Given the description of an element on the screen output the (x, y) to click on. 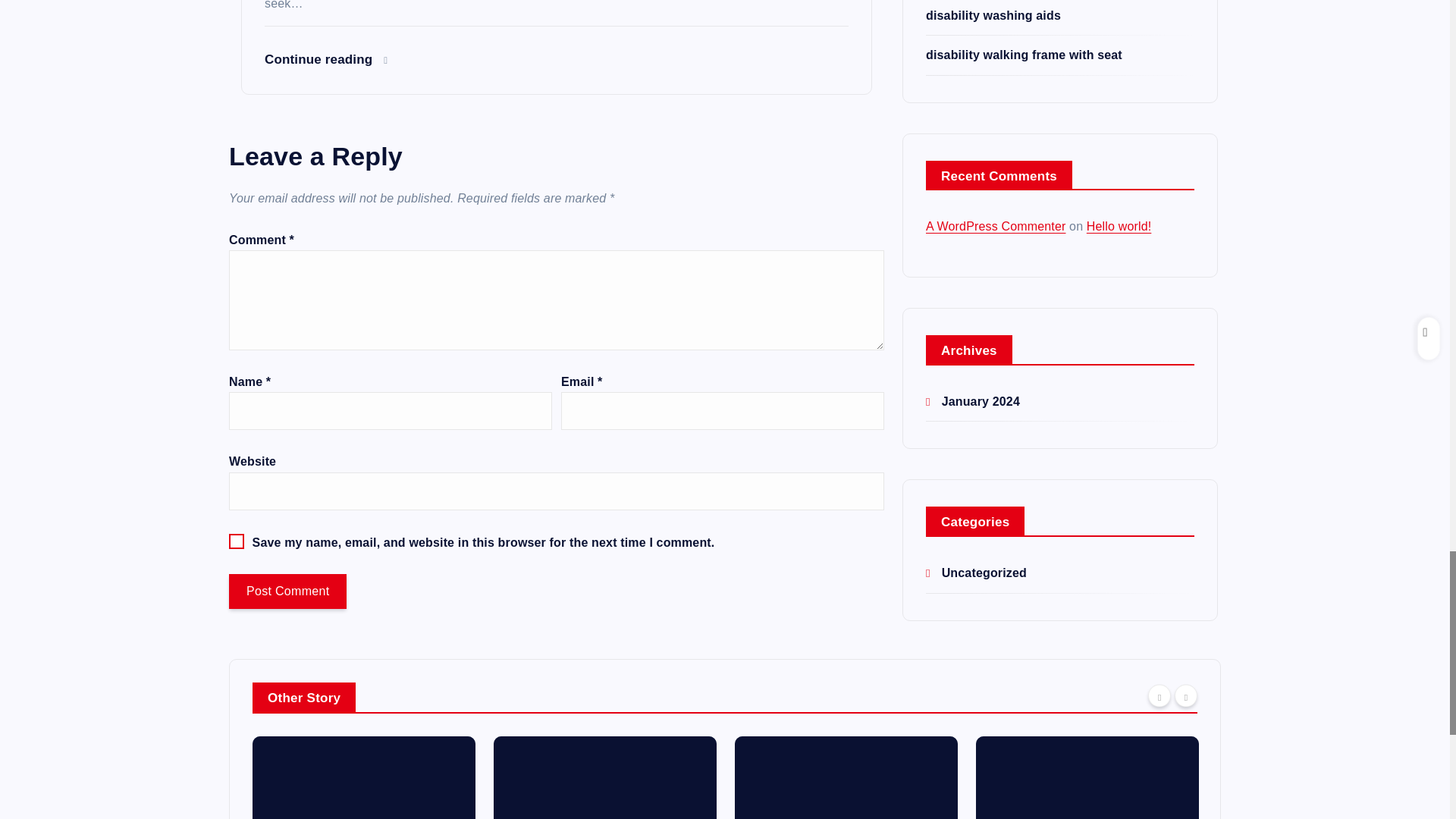
yes (236, 540)
Continue reading (325, 59)
Post Comment (287, 591)
Post Comment (287, 591)
